Given the description of an element on the screen output the (x, y) to click on. 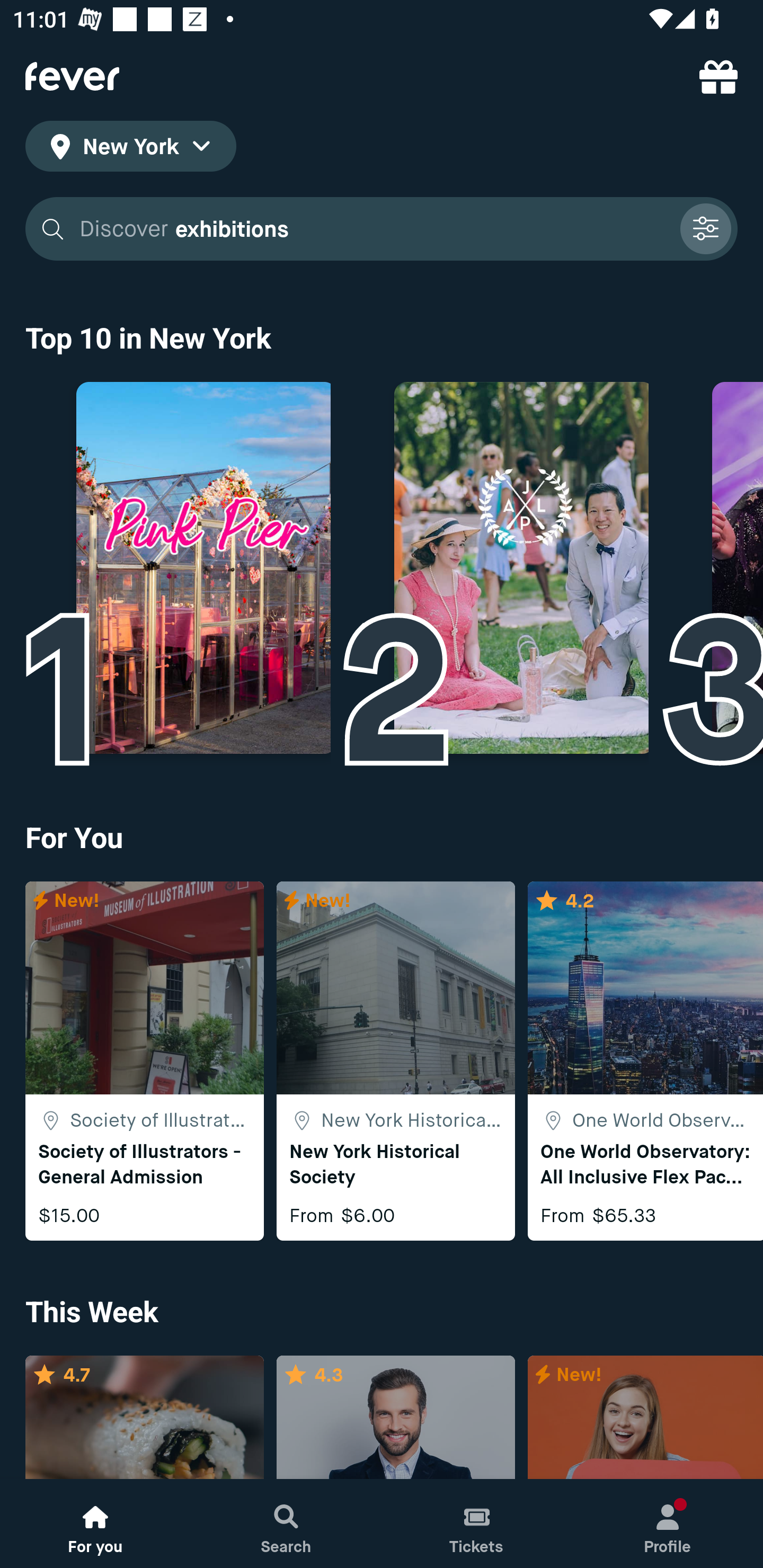
referral (718, 75)
location icon New York location icon (130, 149)
Discover exhibitions (381, 228)
Discover exhibitions (373, 228)
Search (285, 1523)
Tickets (476, 1523)
Profile, New notification Profile (667, 1523)
